Given the description of an element on the screen output the (x, y) to click on. 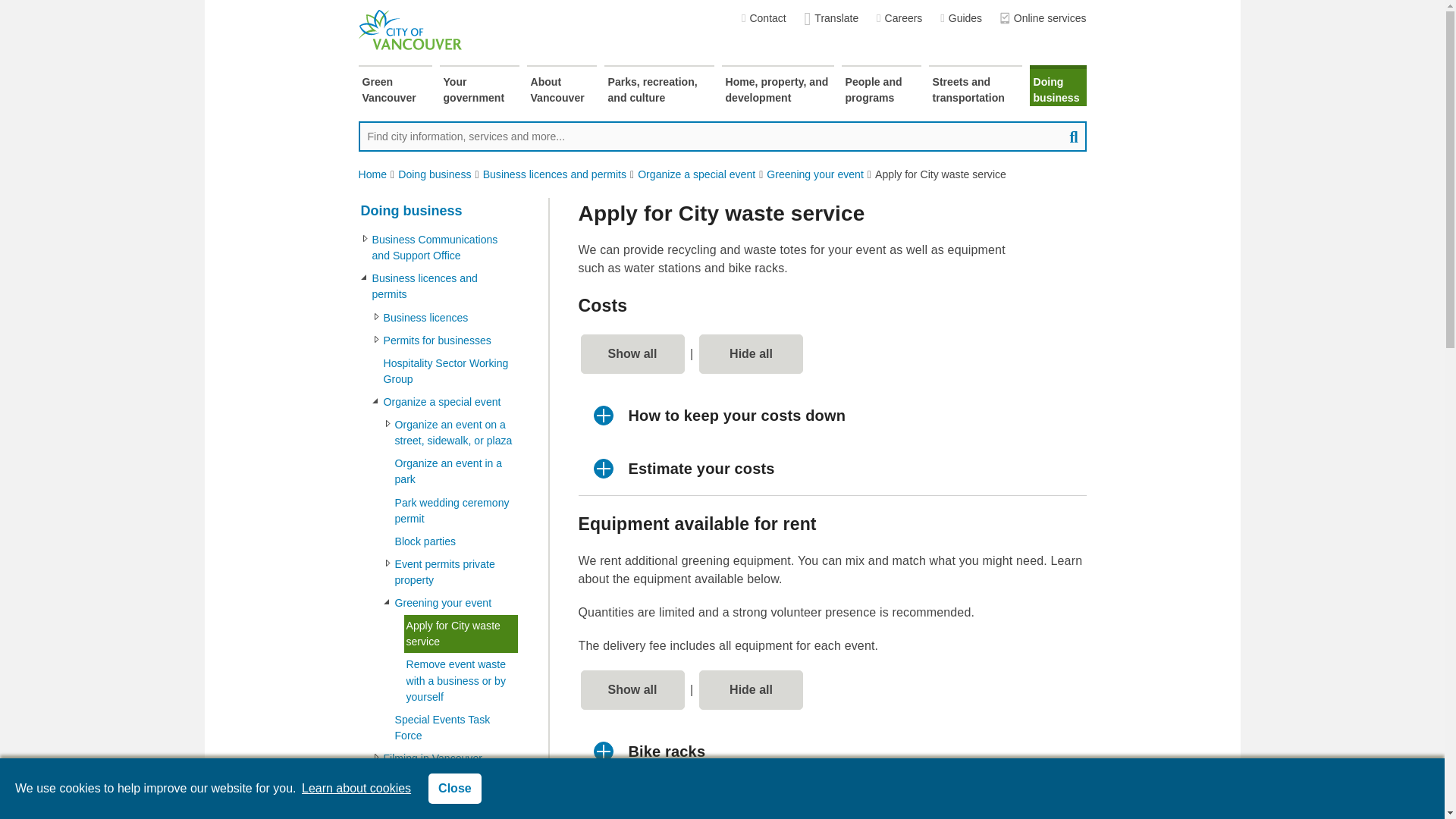
Contact (763, 18)
Your government (479, 85)
Parks, recreation, and culture (658, 85)
Home, property, and development (778, 85)
Show all (632, 690)
Hide all (750, 353)
Guides (960, 18)
Careers (898, 18)
Home (372, 174)
People and programs (881, 85)
